Given the description of an element on the screen output the (x, y) to click on. 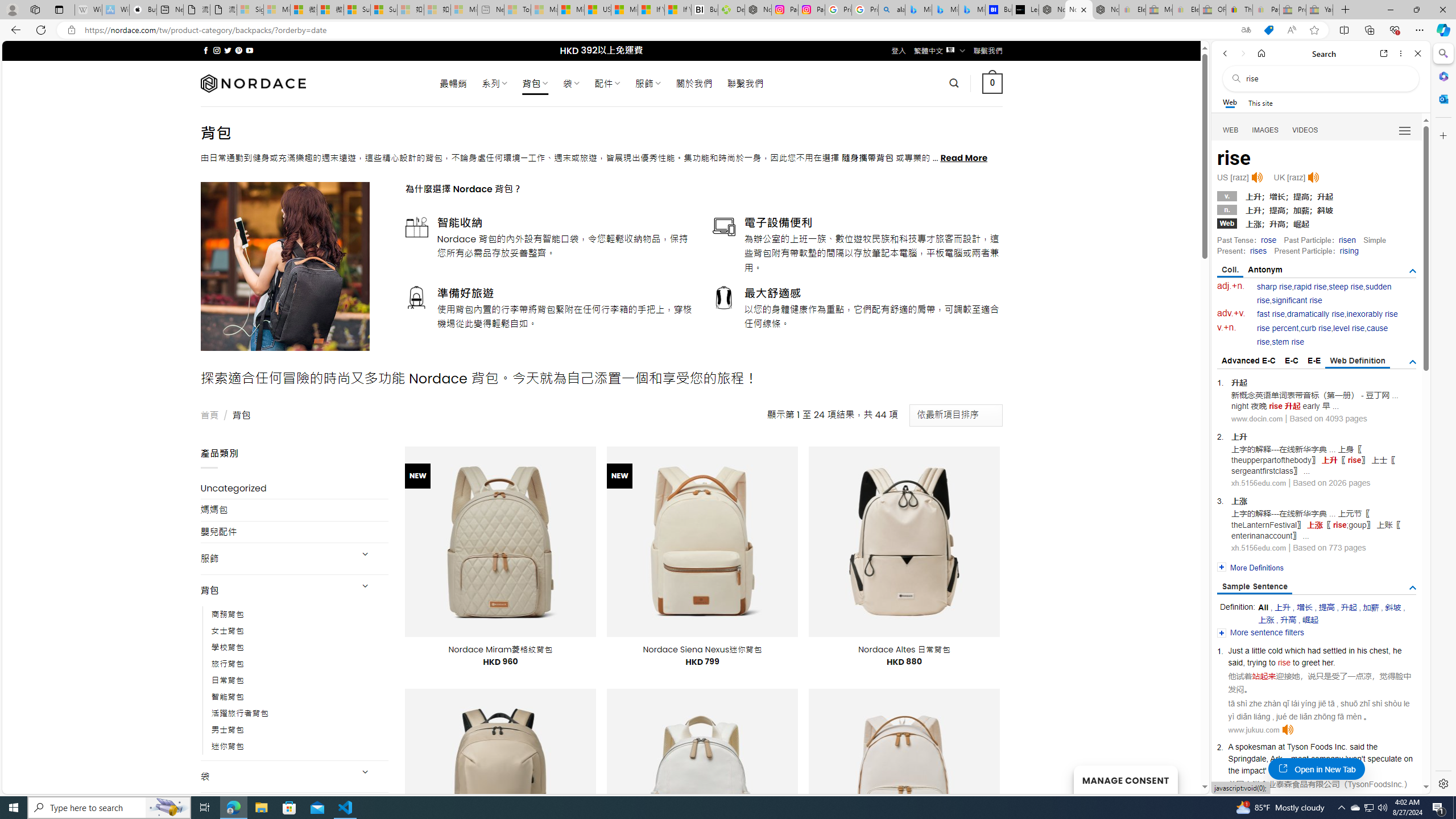
Tyson (1297, 746)
MANAGE CONSENT (1125, 779)
www.docin.com (1256, 418)
